Given the description of an element on the screen output the (x, y) to click on. 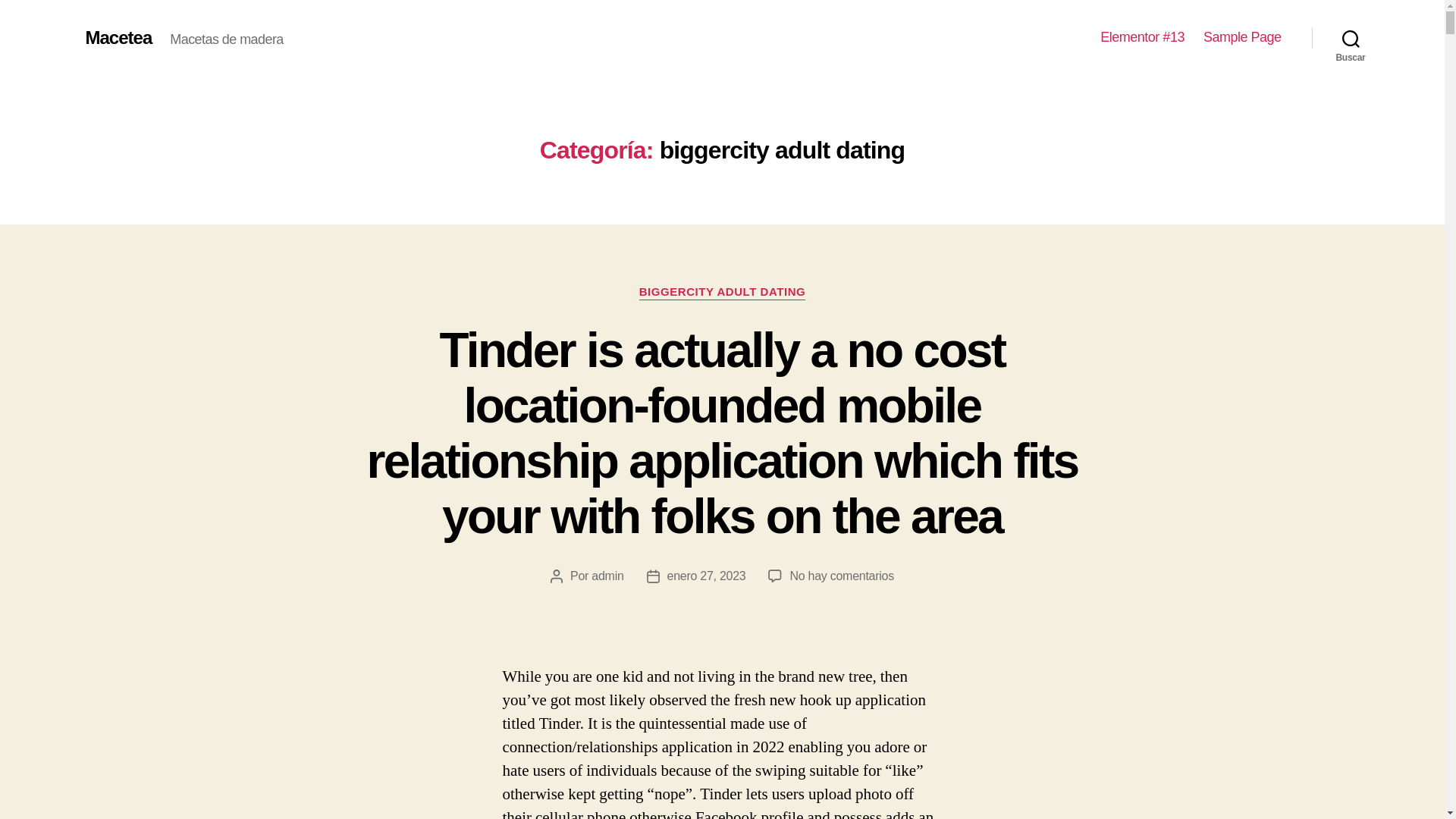
admin (607, 575)
Buscar (1350, 37)
Sample Page (1242, 37)
enero 27, 2023 (705, 575)
BIGGERCITY ADULT DATING (722, 292)
Macetea (117, 37)
